Given the description of an element on the screen output the (x, y) to click on. 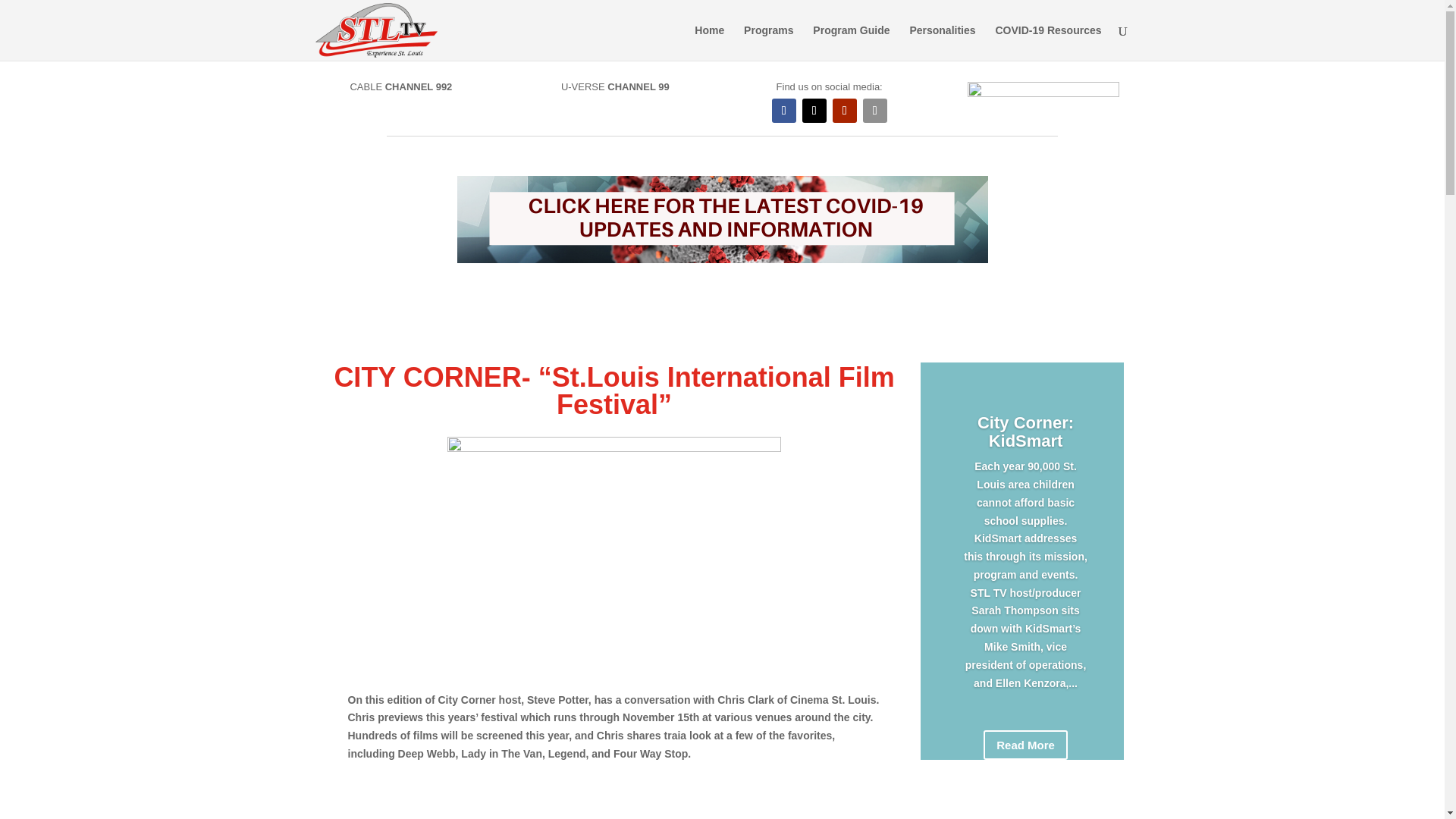
Personalities (941, 42)
City Corner: 2015 St Louis International Film Festival (613, 796)
Follow on Youtube (844, 110)
st-louis-film-festival (613, 552)
Follow on Instagram (874, 110)
City Corner: KidSmart (1025, 431)
COVID-19 Resources (1047, 42)
Follow on Facebook (783, 110)
Program Guide (850, 42)
Follow on X (814, 110)
Read More (1025, 745)
Programs (768, 42)
